Given the description of an element on the screen output the (x, y) to click on. 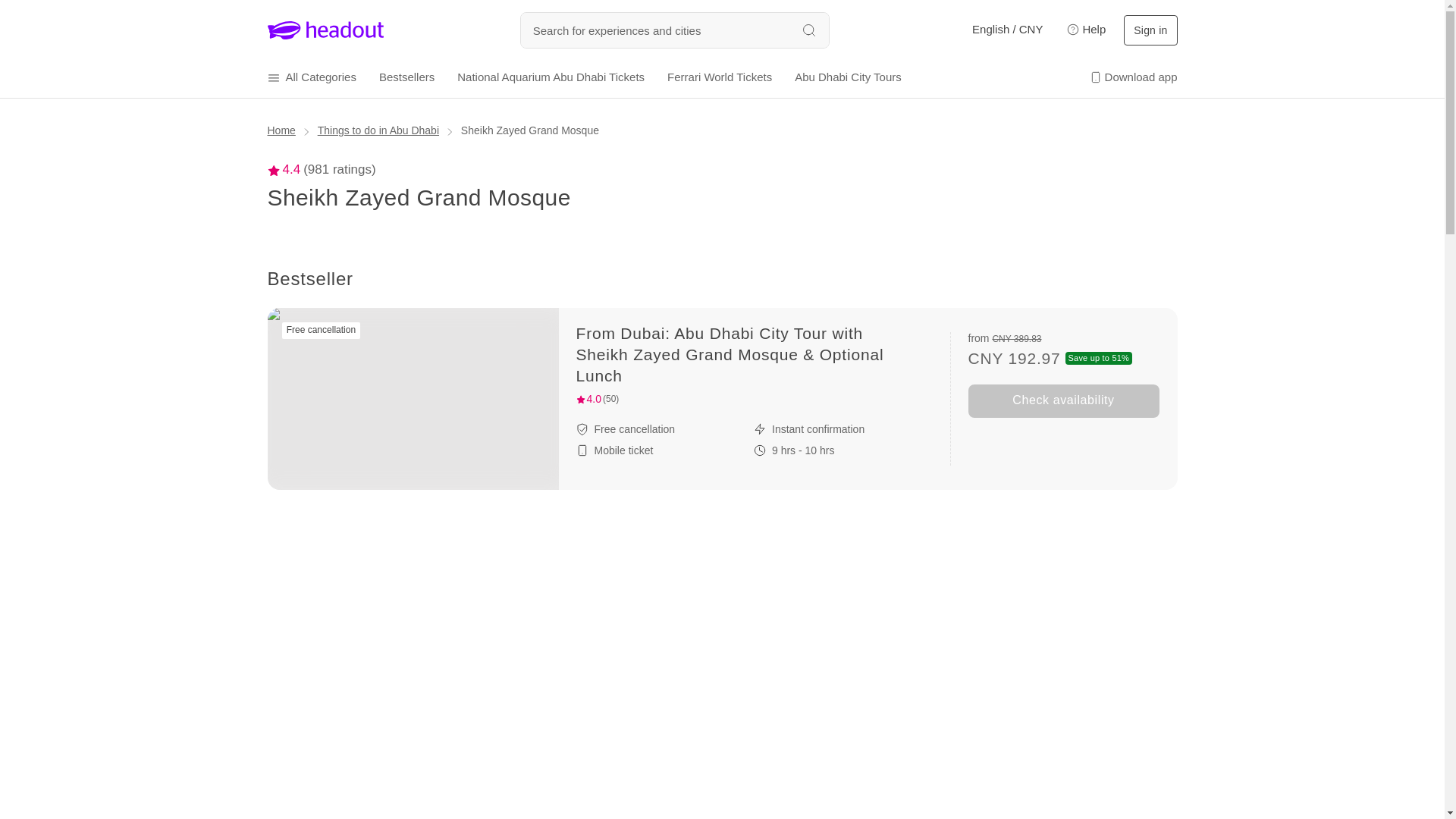
Home (280, 130)
Check availability (1063, 400)
Things to do in Abu Dhabi (378, 130)
National Aquarium Abu Dhabi Tickets (551, 77)
Help (1083, 30)
Abu Dhabi City Tours (847, 77)
Ferrari World Tickets (718, 77)
Sign in (1150, 30)
